Given the description of an element on the screen output the (x, y) to click on. 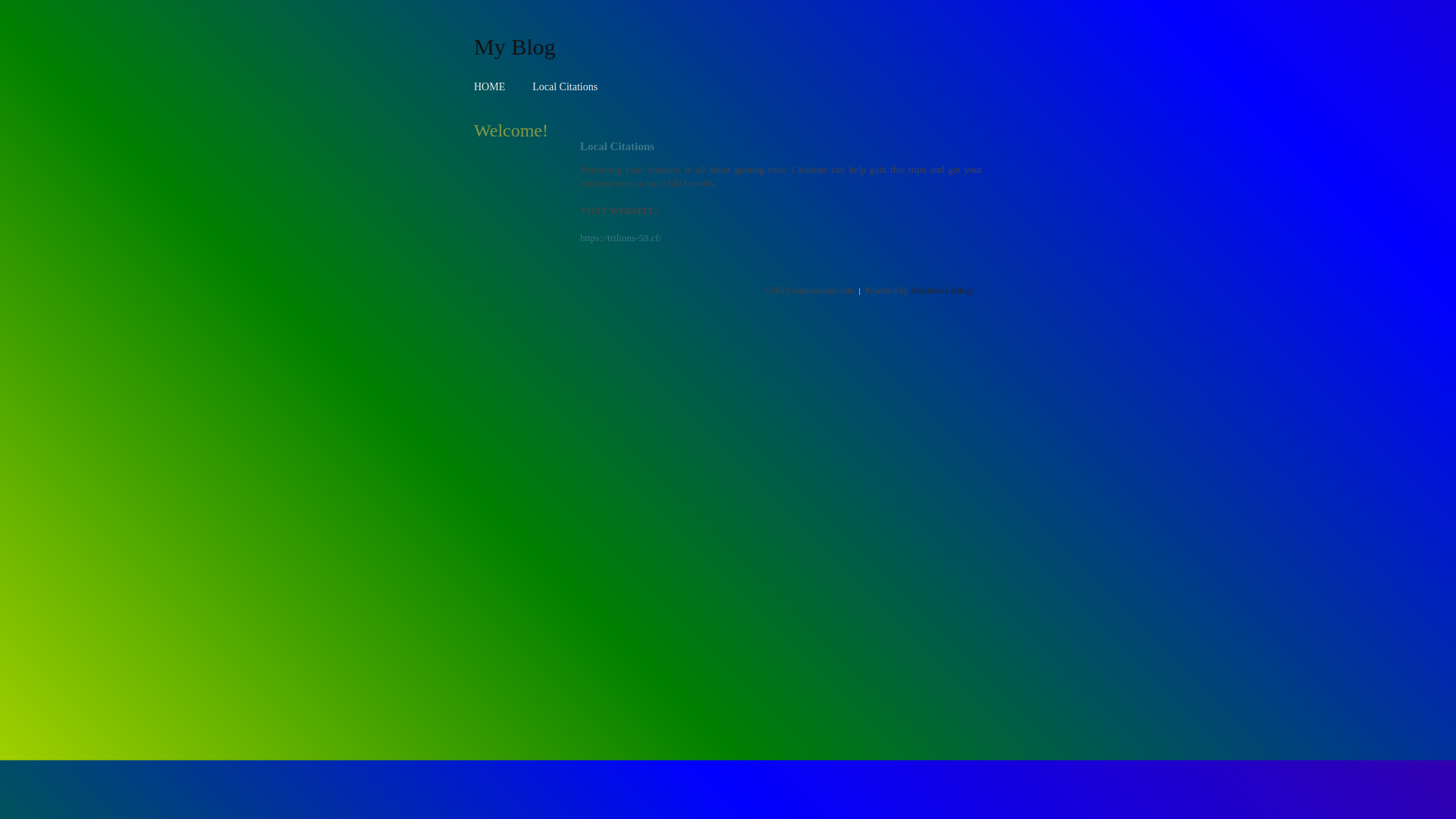
https://trilions-59.cf/ Element type: text (620, 237)
Business Listings Element type: text (942, 290)
My Blog Element type: text (514, 46)
Local Citations Element type: text (564, 86)
HOME Element type: text (489, 86)
